Given the description of an element on the screen output the (x, y) to click on. 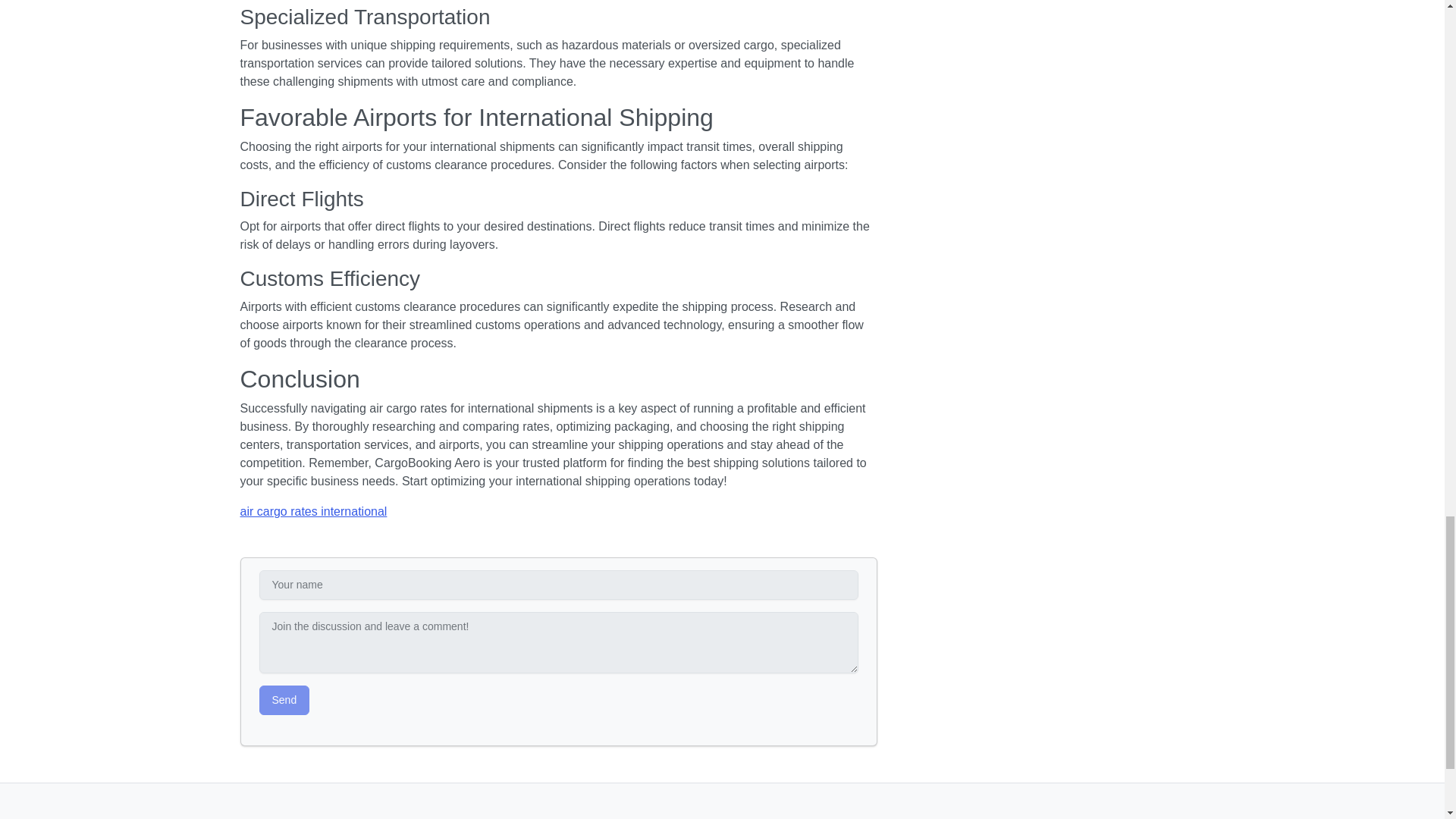
Send (284, 699)
air cargo rates international (313, 511)
Send (284, 699)
